Given the description of an element on the screen output the (x, y) to click on. 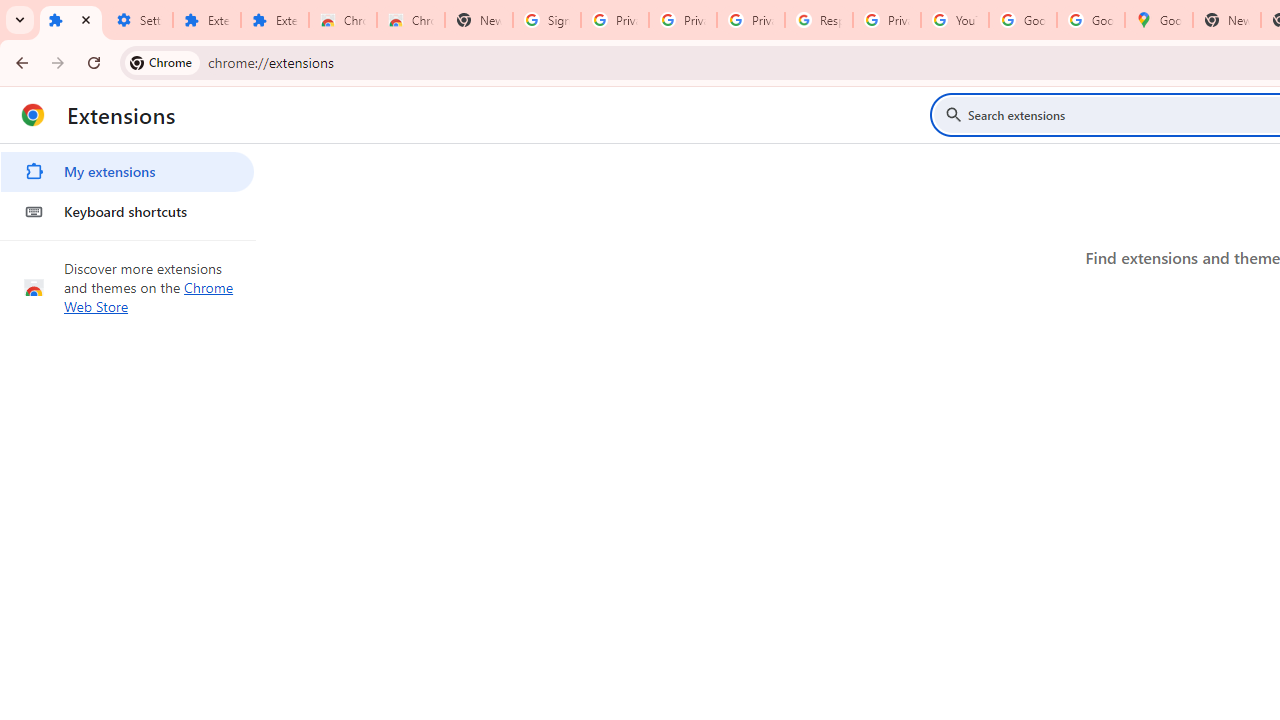
Chrome Web Store (342, 20)
Extensions (206, 20)
Extensions (274, 20)
Chrome Web Store - Themes (411, 20)
My extensions (127, 171)
Keyboard shortcuts (127, 211)
